Given the description of an element on the screen output the (x, y) to click on. 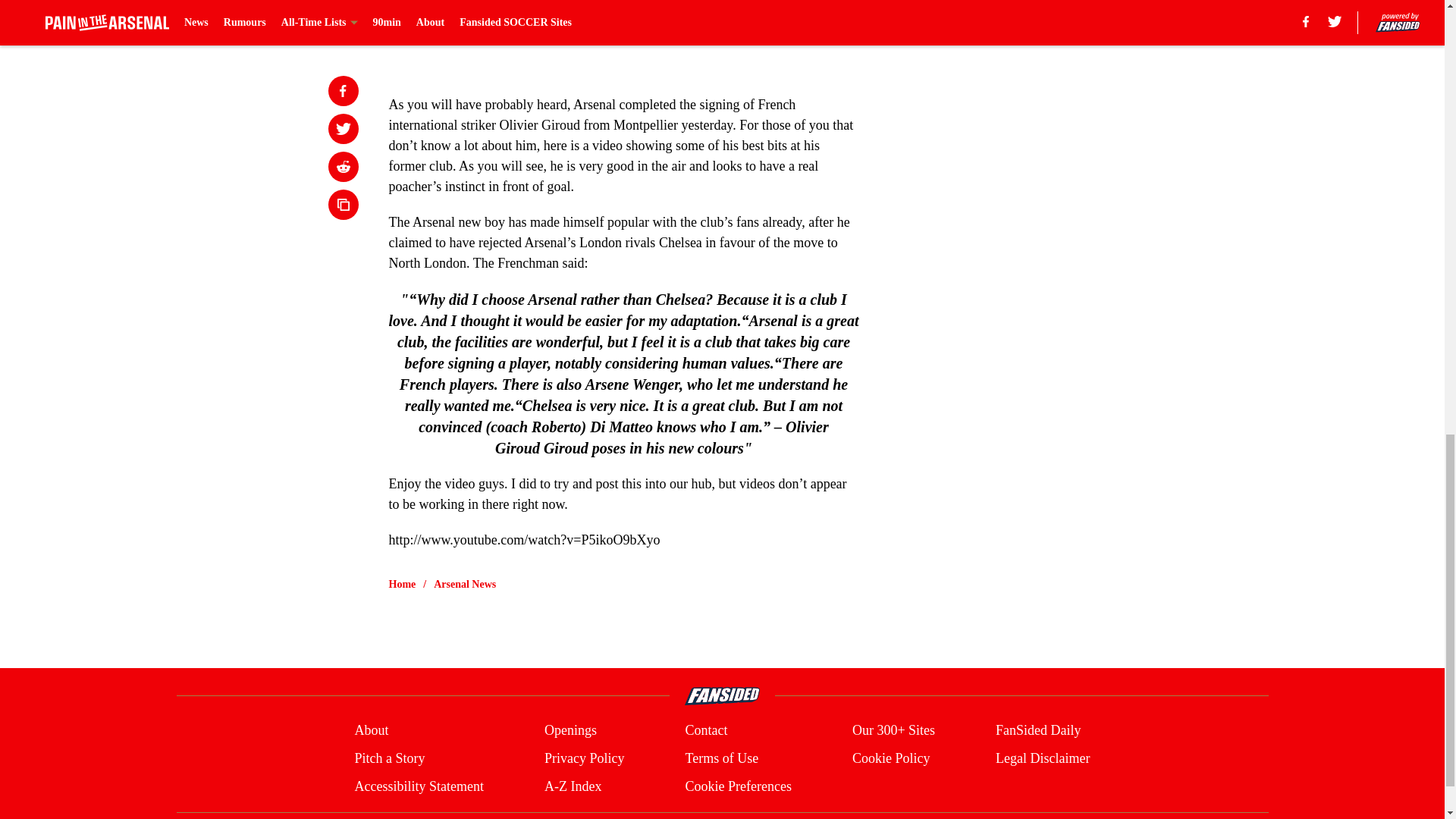
About (370, 730)
Contact (705, 730)
Openings (570, 730)
Privacy Policy (584, 758)
Pitch a Story (389, 758)
Arsenal News (464, 584)
A-Z Index (572, 786)
Accessibility Statement (418, 786)
Cookie Preferences (737, 786)
Cookie Policy (890, 758)
